Given the description of an element on the screen output the (x, y) to click on. 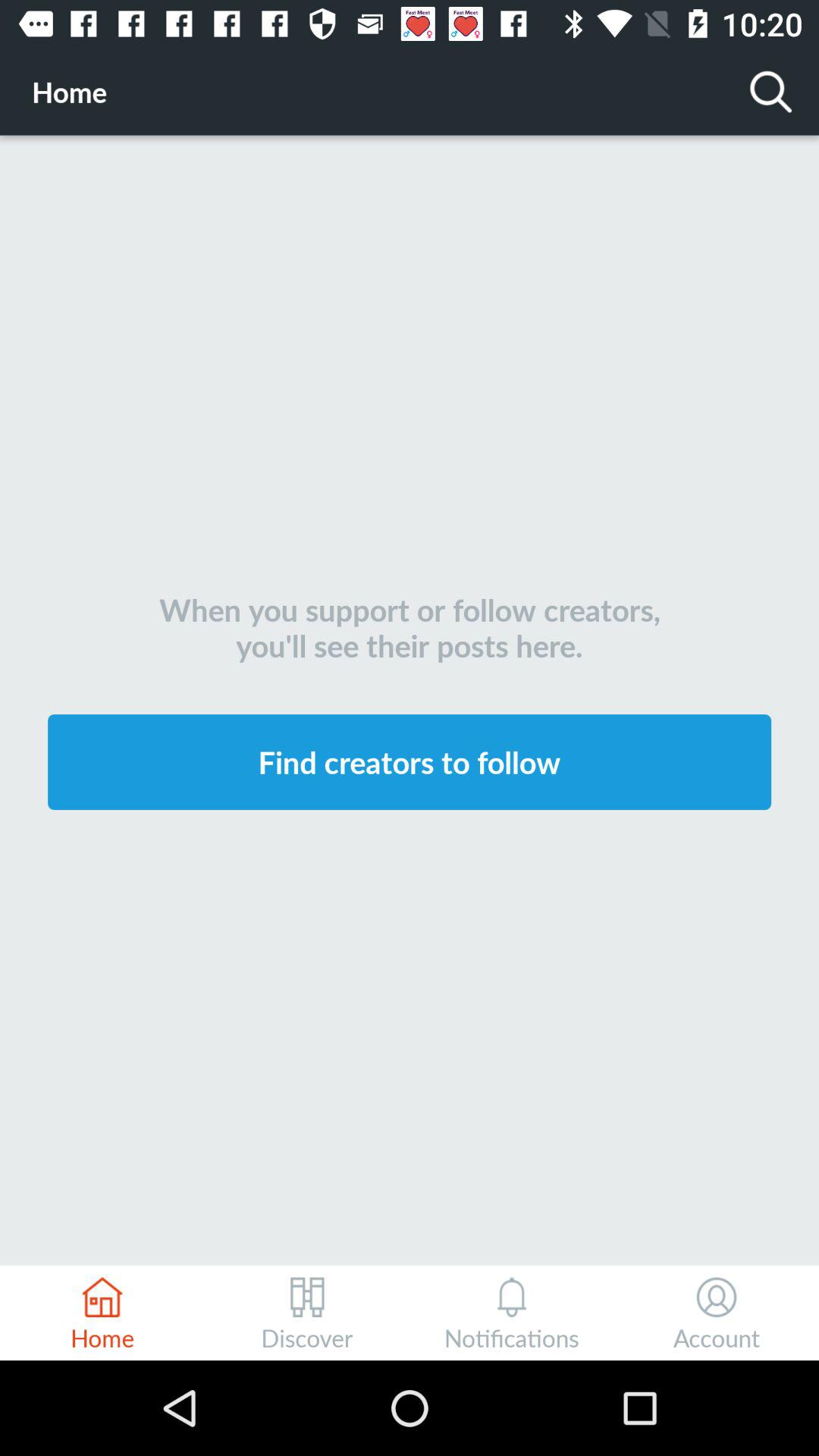
press the item at the top right corner (771, 91)
